Given the description of an element on the screen output the (x, y) to click on. 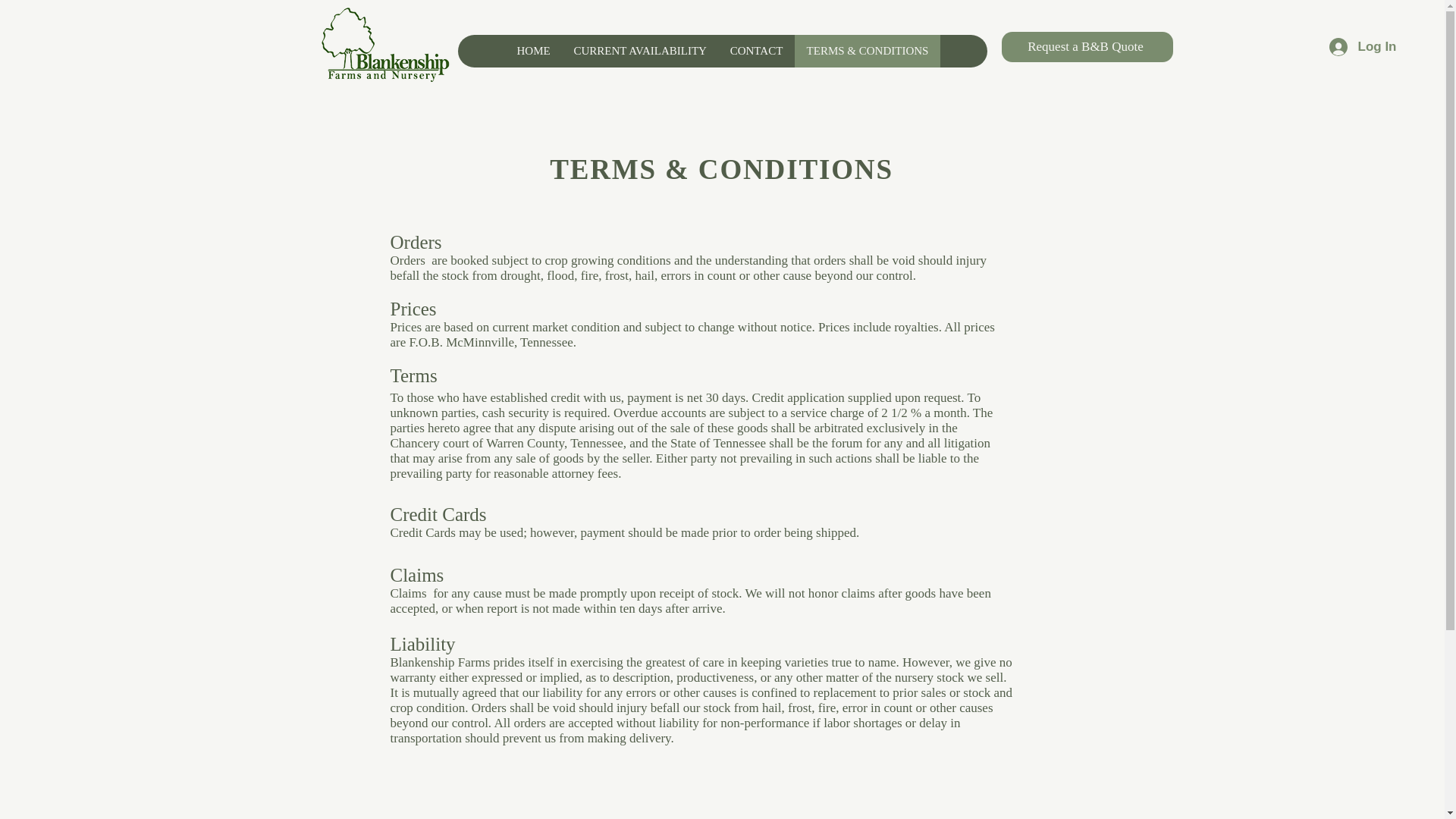
CONTACT (755, 51)
CURRENT AVAILABILITY (638, 51)
Log In (1361, 46)
HOME (533, 51)
